Given the description of an element on the screen output the (x, y) to click on. 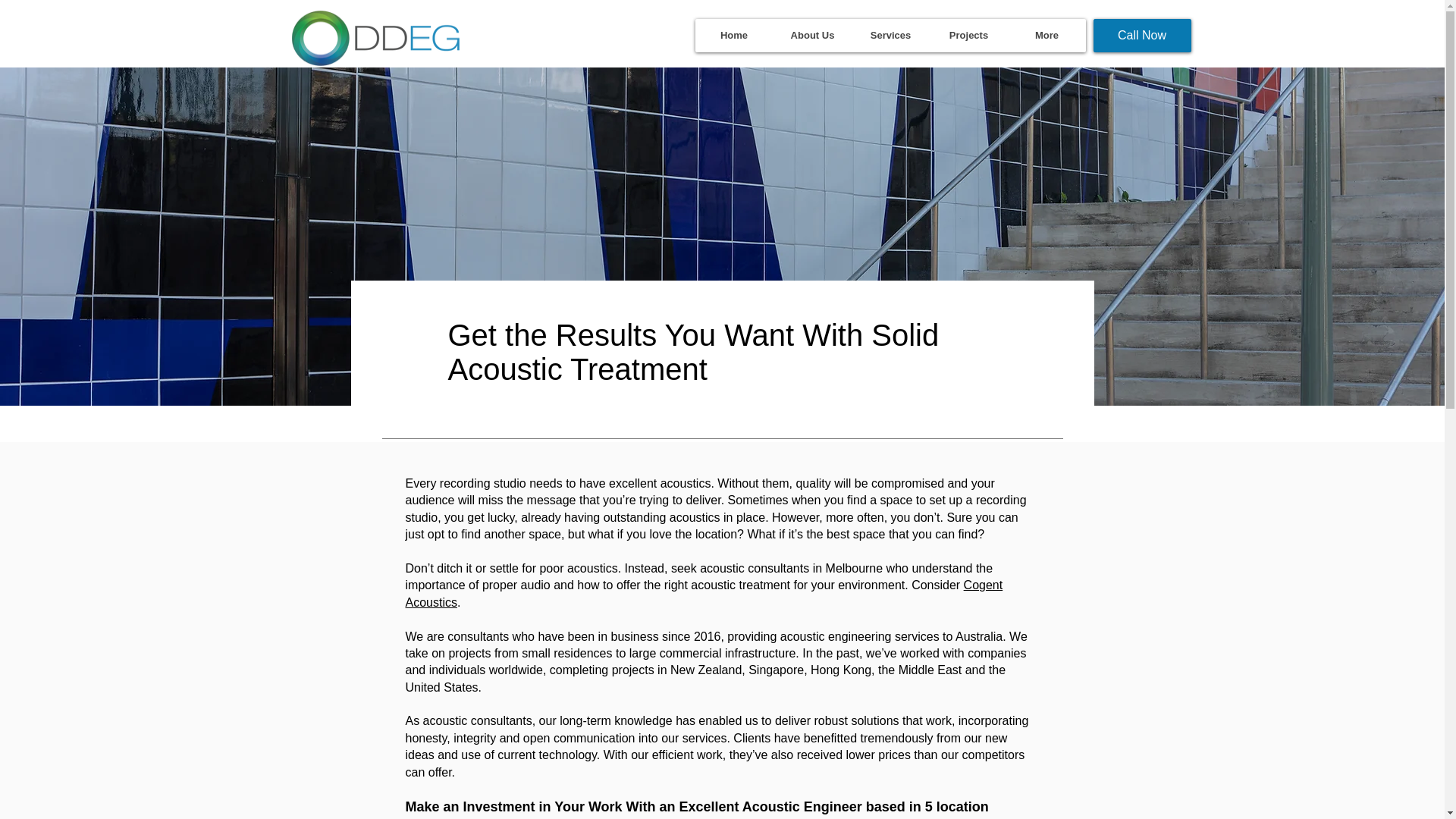
Projects (968, 35)
Home (733, 35)
Services (889, 35)
Call Now (1142, 35)
Cogent Acoustics (703, 593)
About Us (812, 35)
